Given the description of an element on the screen output the (x, y) to click on. 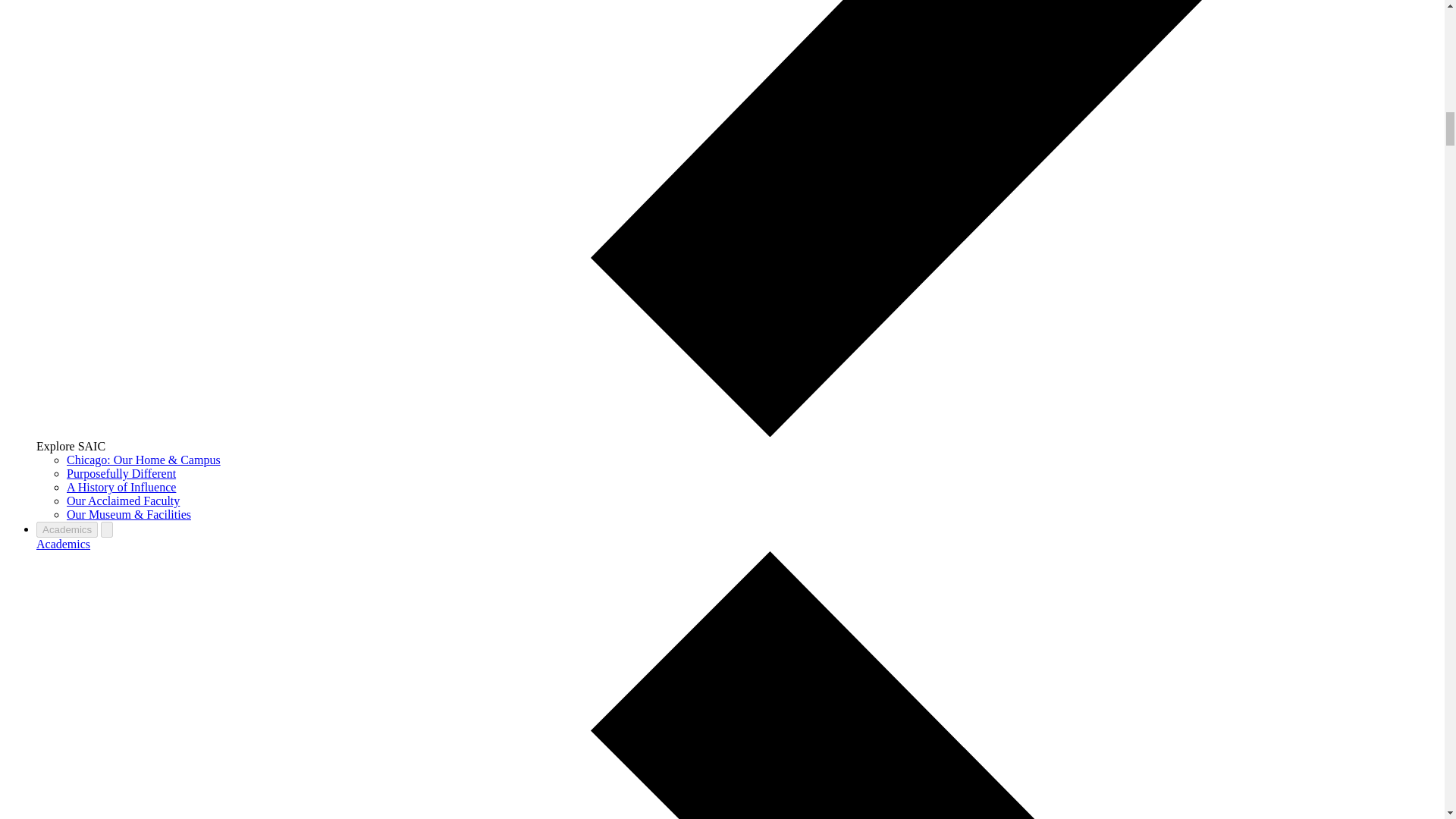
A History of Influence (121, 486)
Our Acclaimed Faculty (122, 500)
Academics (66, 529)
Academics (63, 543)
Purposefully Different (121, 472)
